Given the description of an element on the screen output the (x, y) to click on. 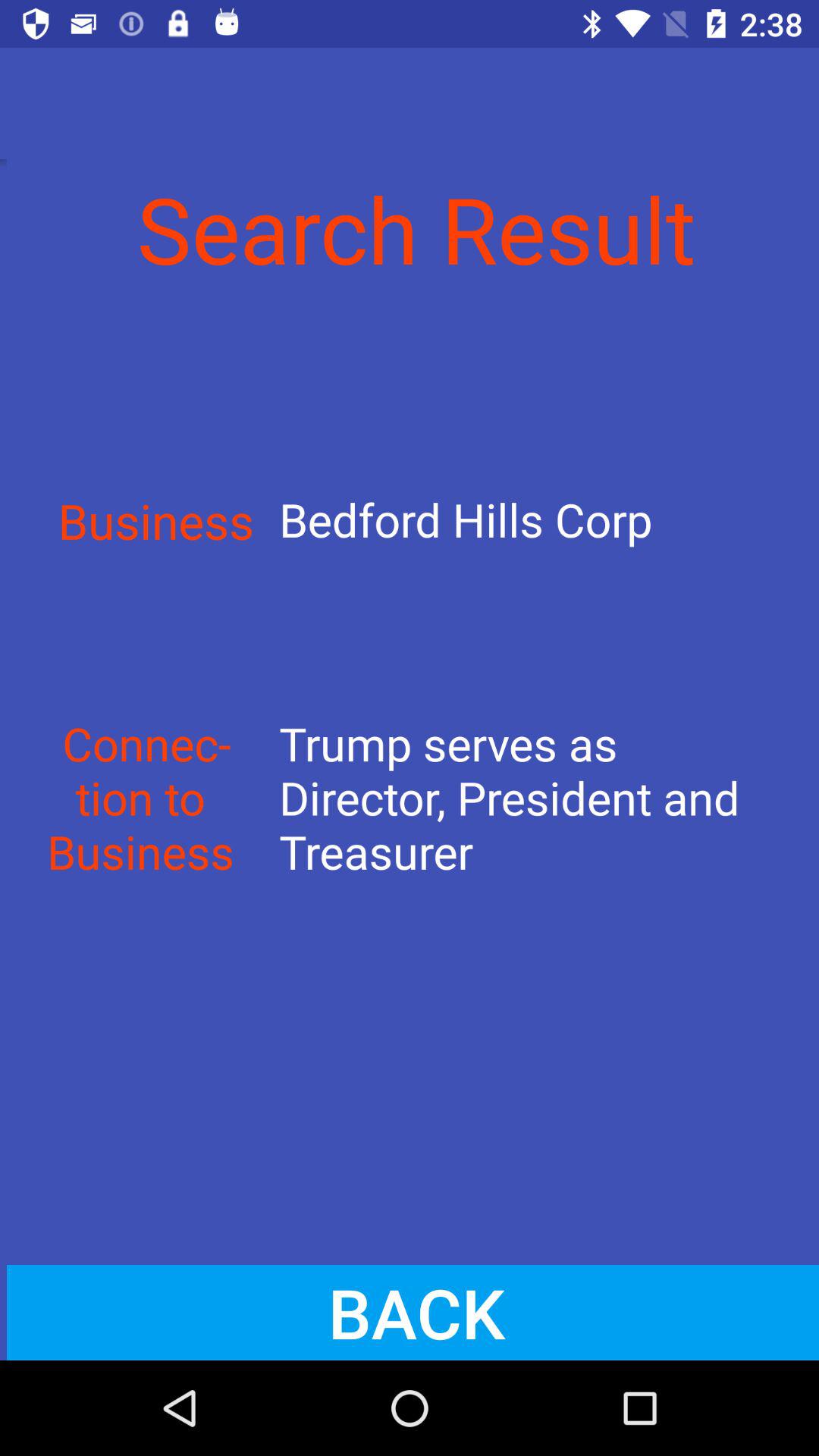
launch the back (409, 1312)
